Given the description of an element on the screen output the (x, y) to click on. 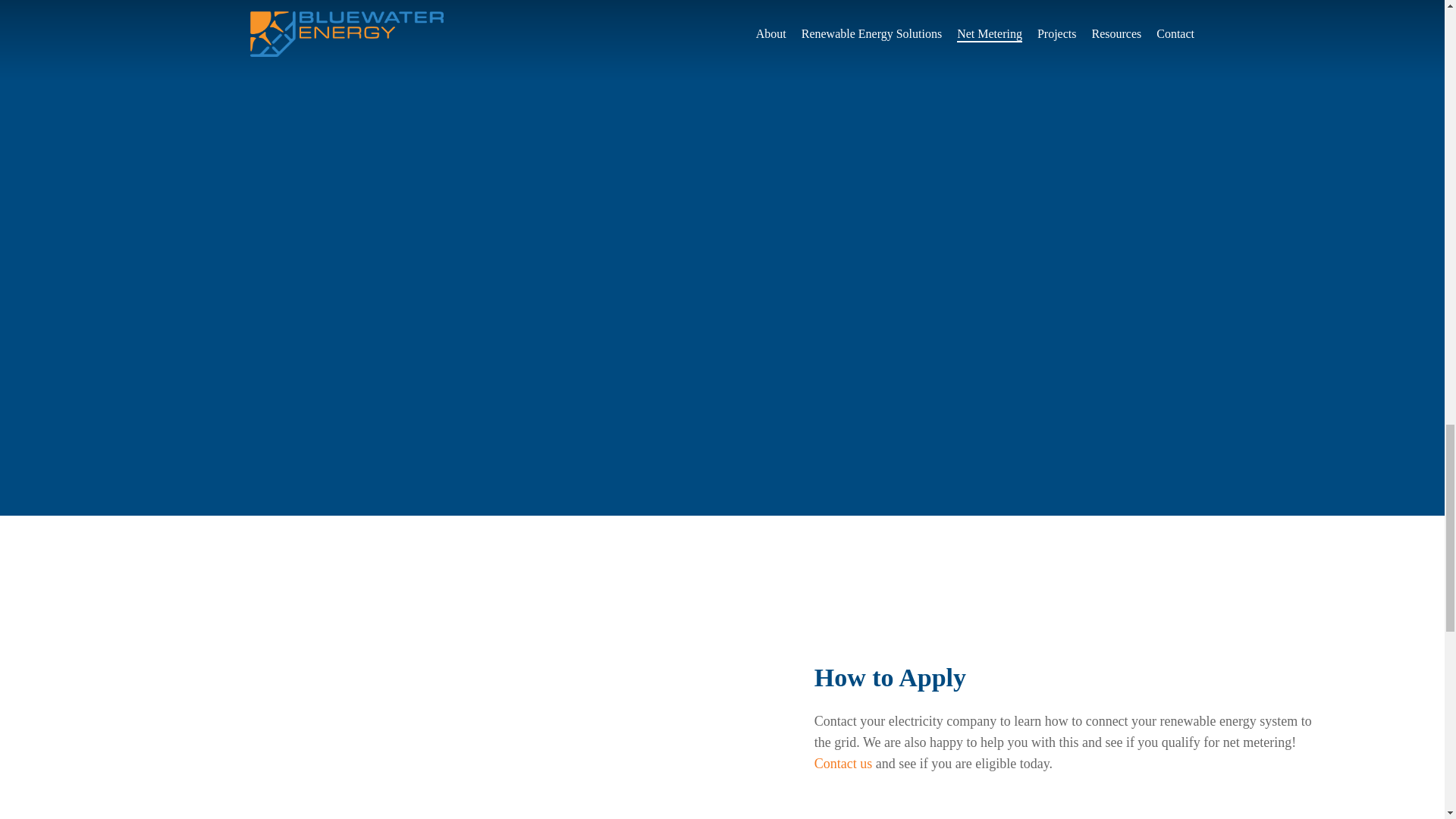
Contact us (842, 763)
